Given the description of an element on the screen output the (x, y) to click on. 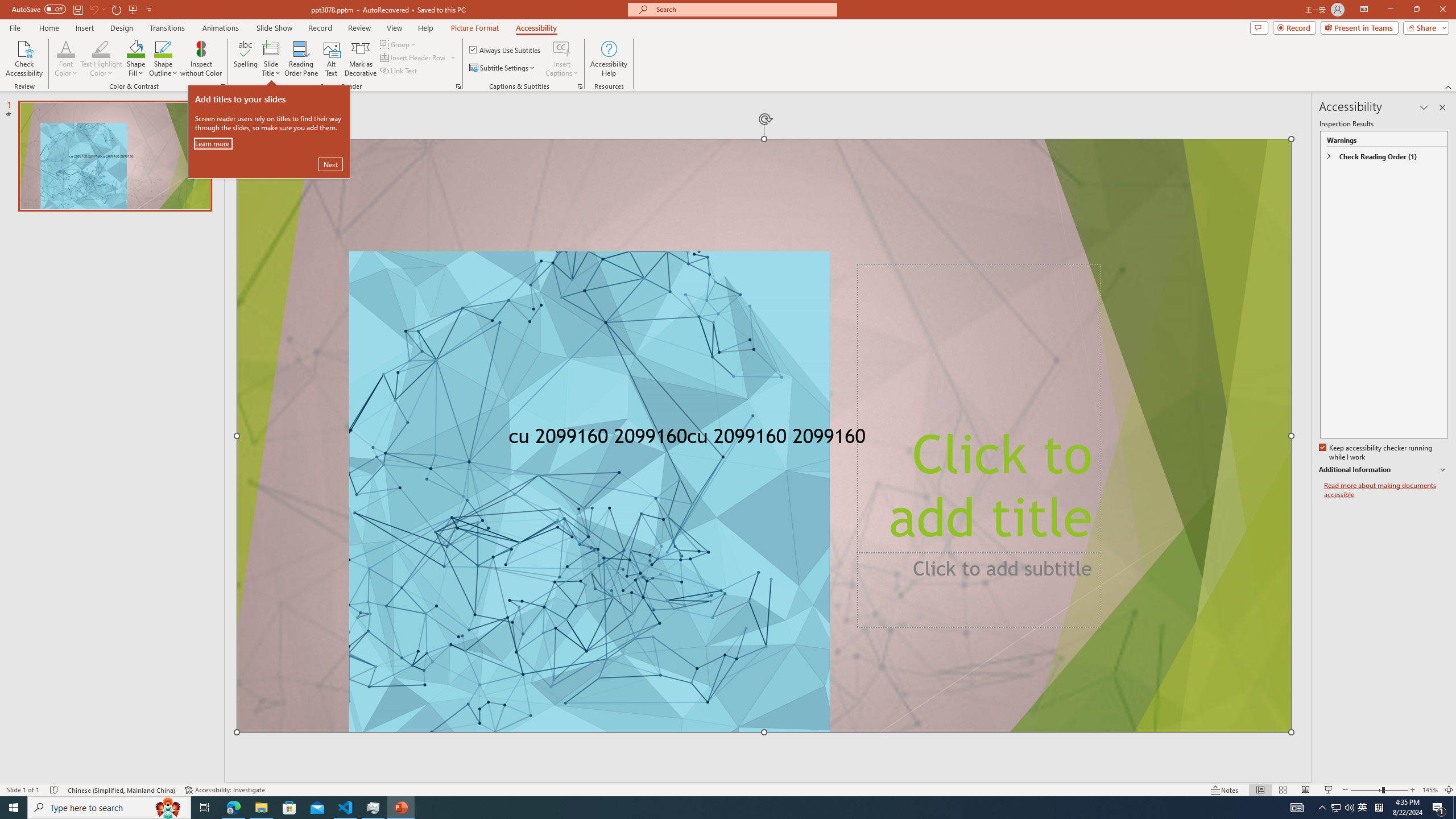
Shape Fill Dark Green, Accent 2 (135, 48)
Captions & Subtitles (580, 85)
Insert Captions (561, 58)
Insert Header Row (418, 56)
Screen Reader (458, 85)
